Given the description of an element on the screen output the (x, y) to click on. 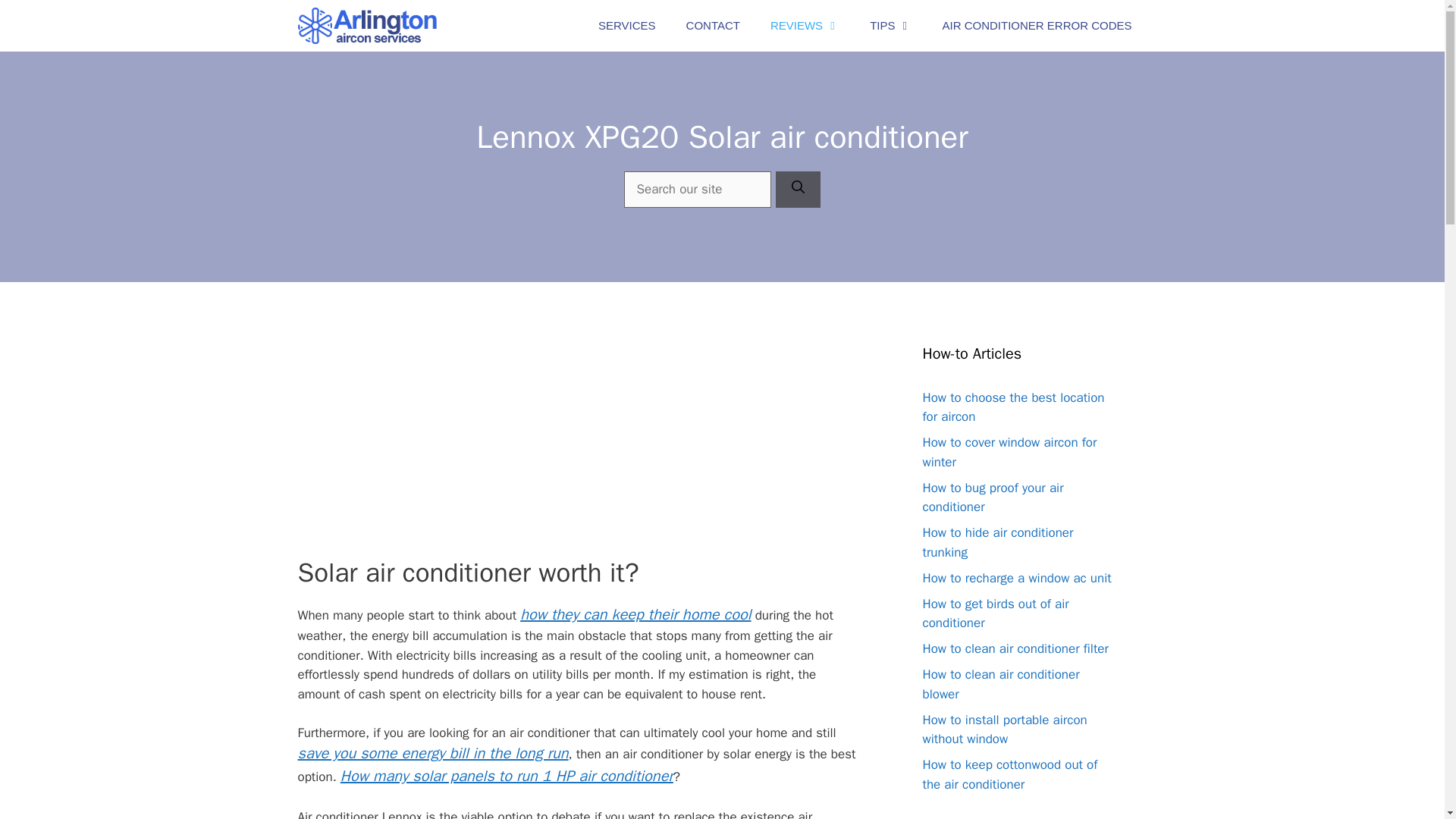
TIPS (890, 25)
SERVICES (627, 25)
Search for: (697, 189)
REVIEWS (804, 25)
CONTACT (713, 25)
Arlington Air Conditioning Services (366, 25)
